Given the description of an element on the screen output the (x, y) to click on. 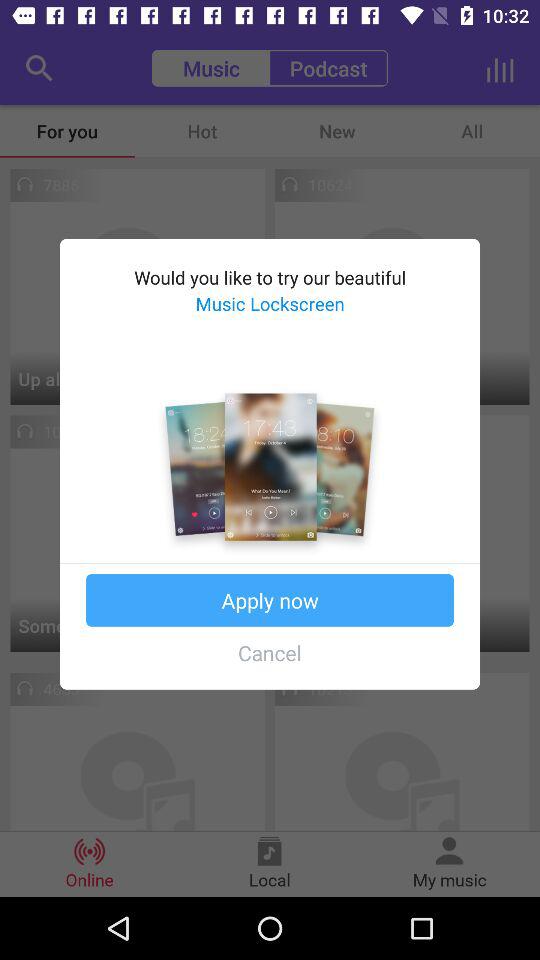
flip to the apply now item (269, 600)
